Given the description of an element on the screen output the (x, y) to click on. 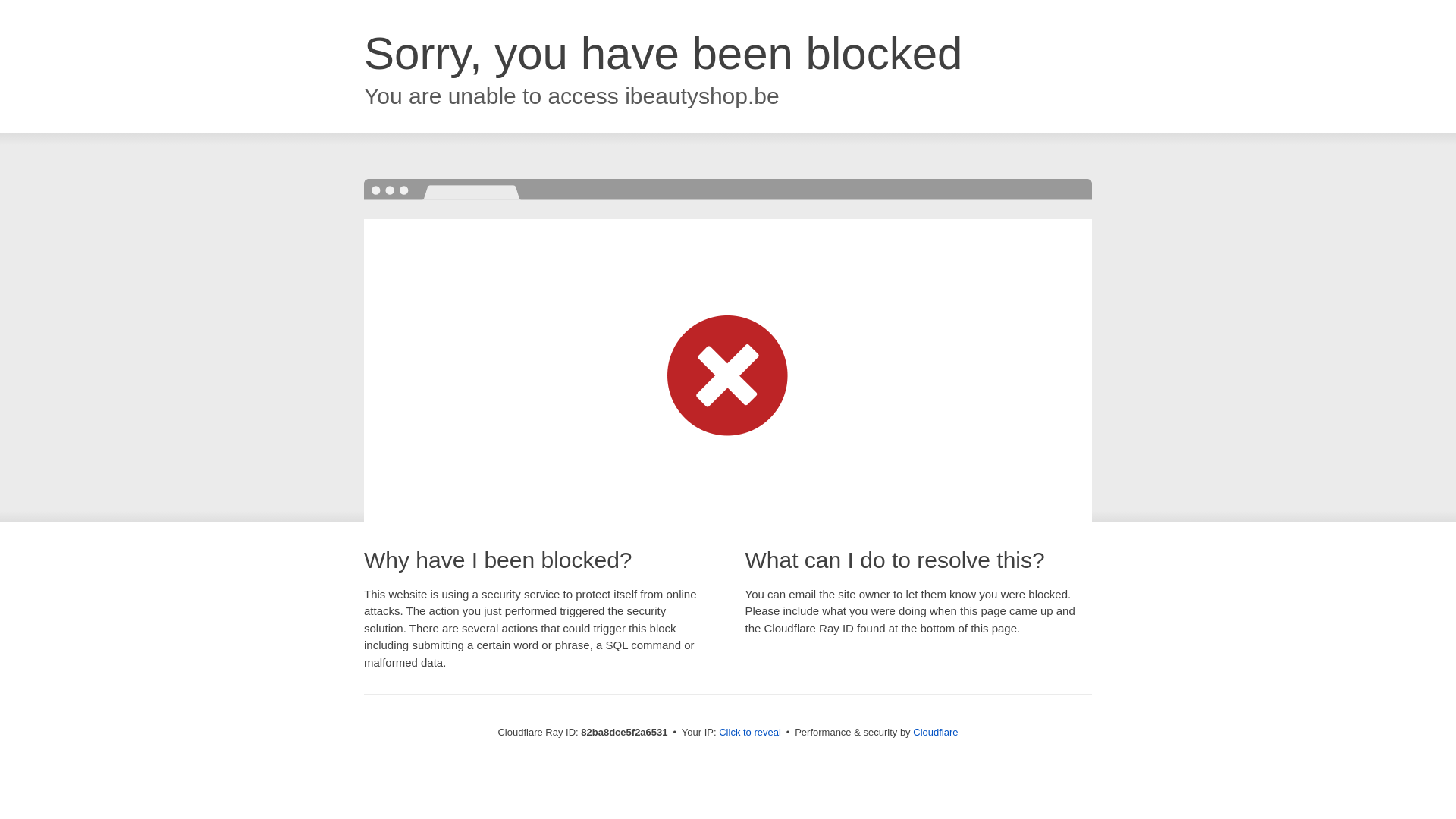
Click to reveal Element type: text (749, 732)
Cloudflare Element type: text (935, 731)
